Given the description of an element on the screen output the (x, y) to click on. 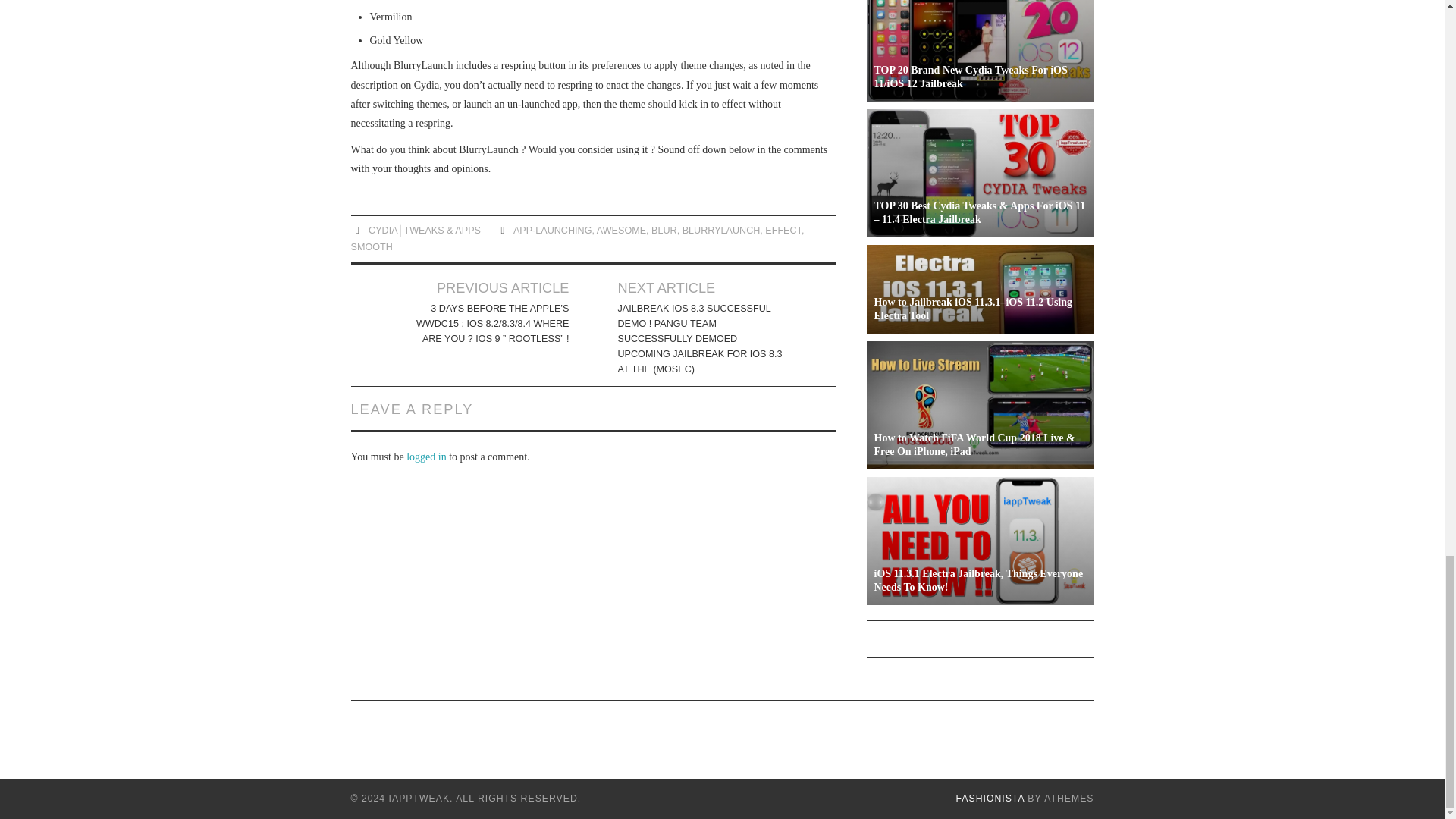
SMOOTH (370, 246)
BLUR (663, 230)
BLURRYLAUNCH (721, 230)
logged in (426, 456)
AWESOME (621, 230)
APP-LAUNCHING (552, 230)
EFFECT (783, 230)
